Given the description of an element on the screen output the (x, y) to click on. 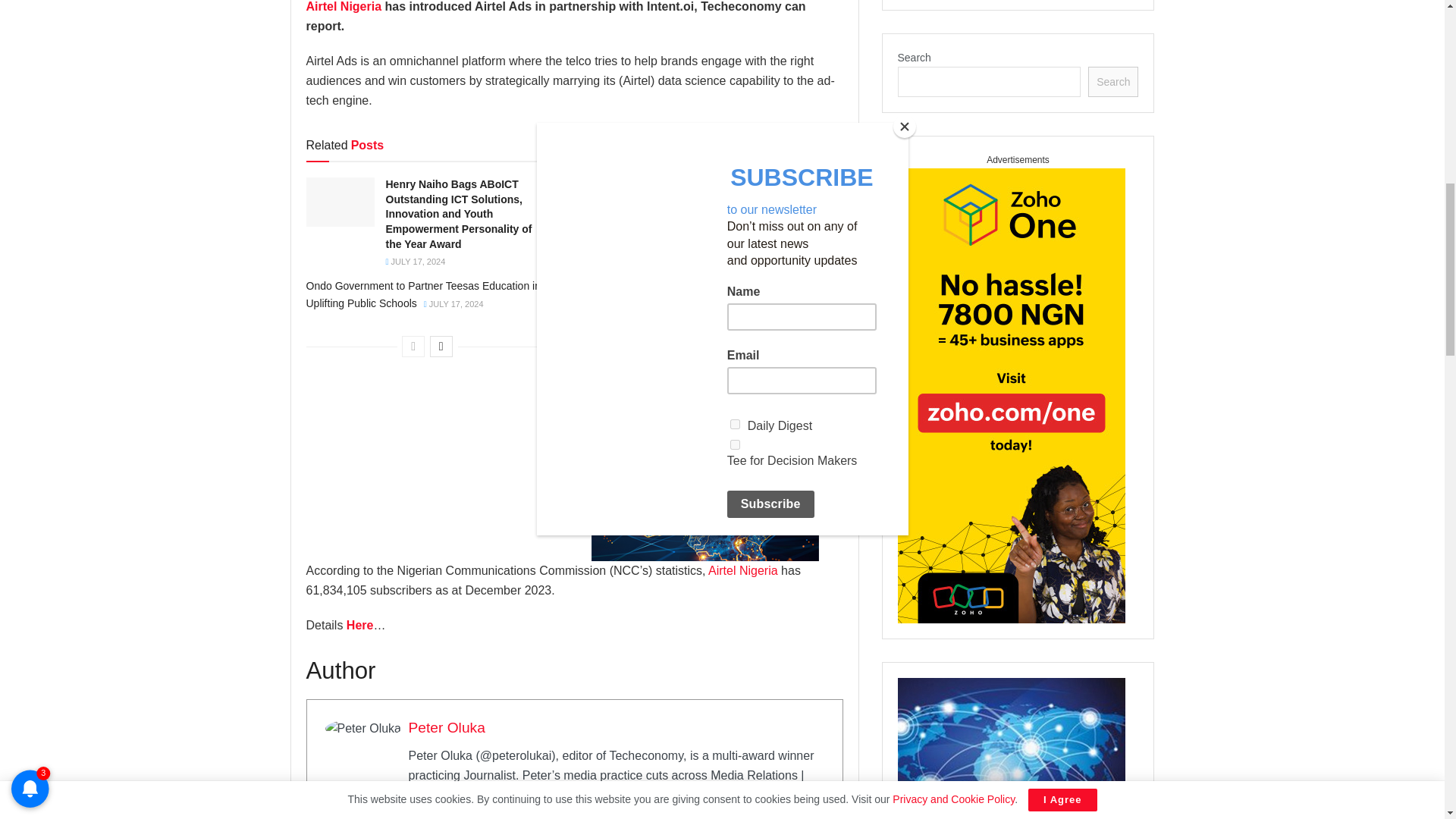
Next (440, 346)
Previous (413, 346)
Peter Oluka (445, 727)
